Given the description of an element on the screen output the (x, y) to click on. 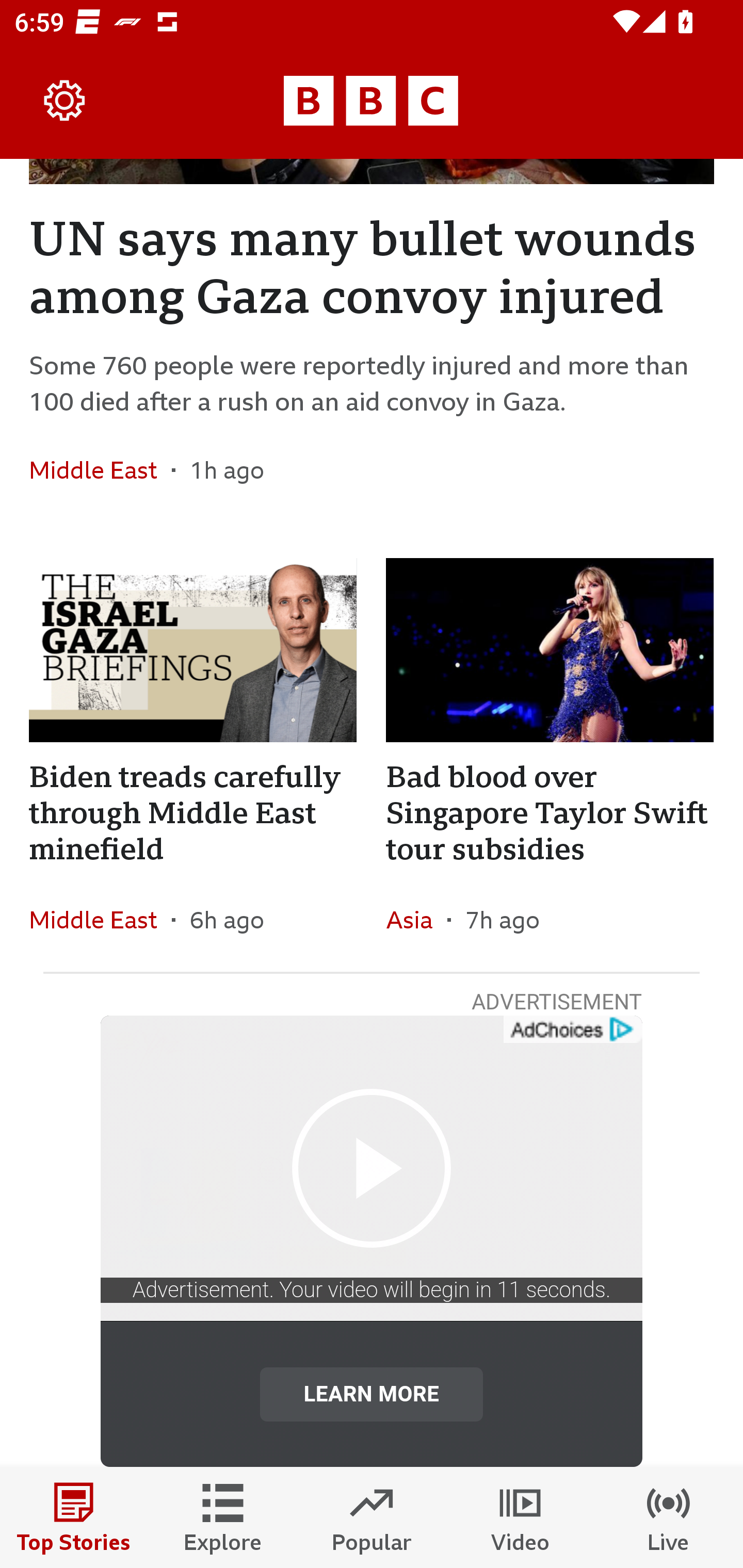
Settings (64, 100)
Middle East In the section Middle East (99, 469)
Middle East In the section Middle East (99, 919)
Asia In the section Asia (416, 919)
get?name=admarker-full-tl (571, 1030)
LEARN MORE (371, 1393)
Explore (222, 1517)
Popular (371, 1517)
Video (519, 1517)
Live (668, 1517)
